Given the description of an element on the screen output the (x, y) to click on. 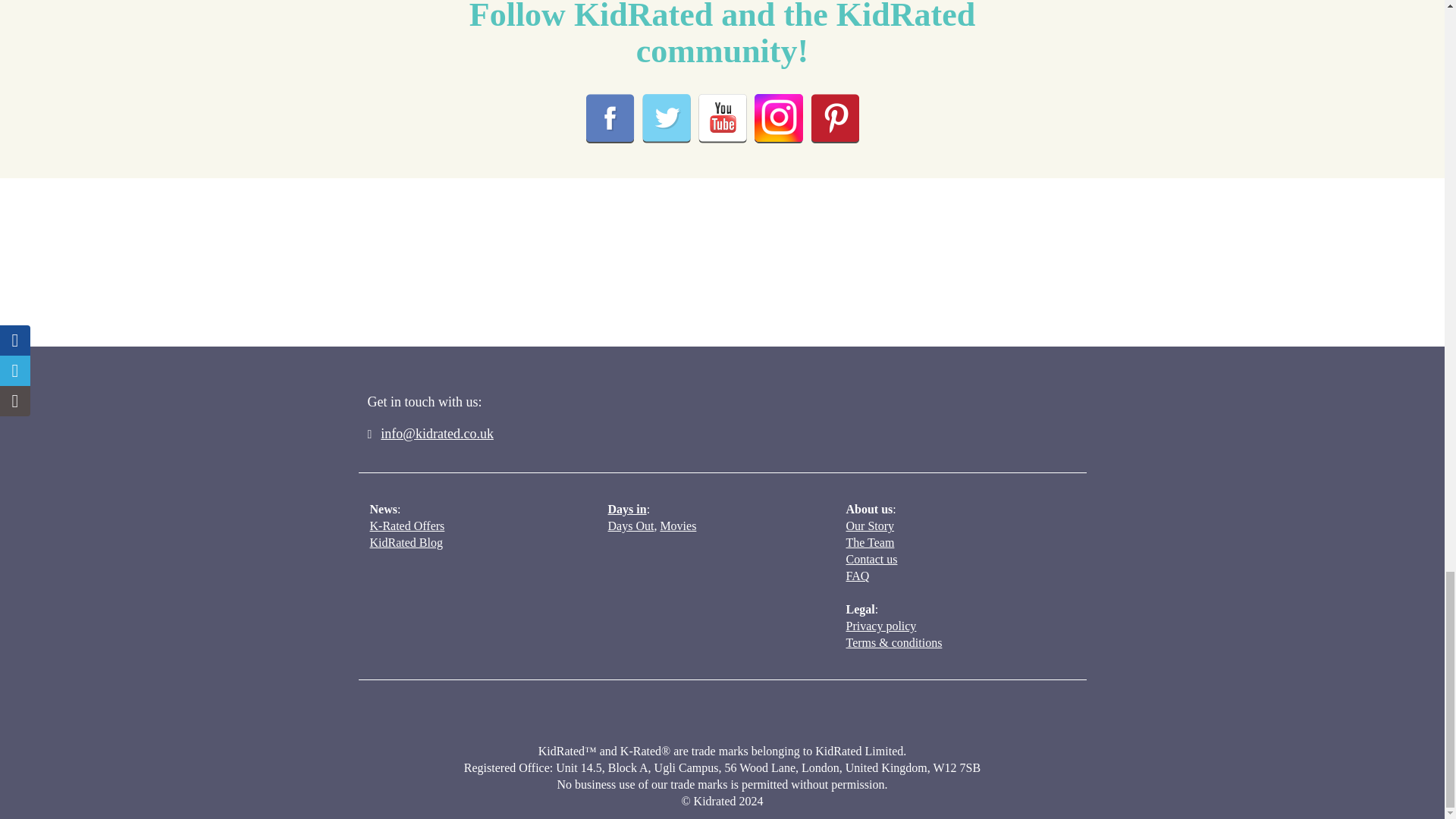
Kidrated's Instagram (778, 118)
Kidrated's Pinterest (834, 118)
4 NEWS (730, 259)
Kidrated's Youtube Channel (721, 118)
Evening Standard (404, 278)
Kidrated's Twitter (666, 118)
WAYRA (888, 267)
Kidrated's Facebook (609, 118)
The Guardian (575, 286)
